Given the description of an element on the screen output the (x, y) to click on. 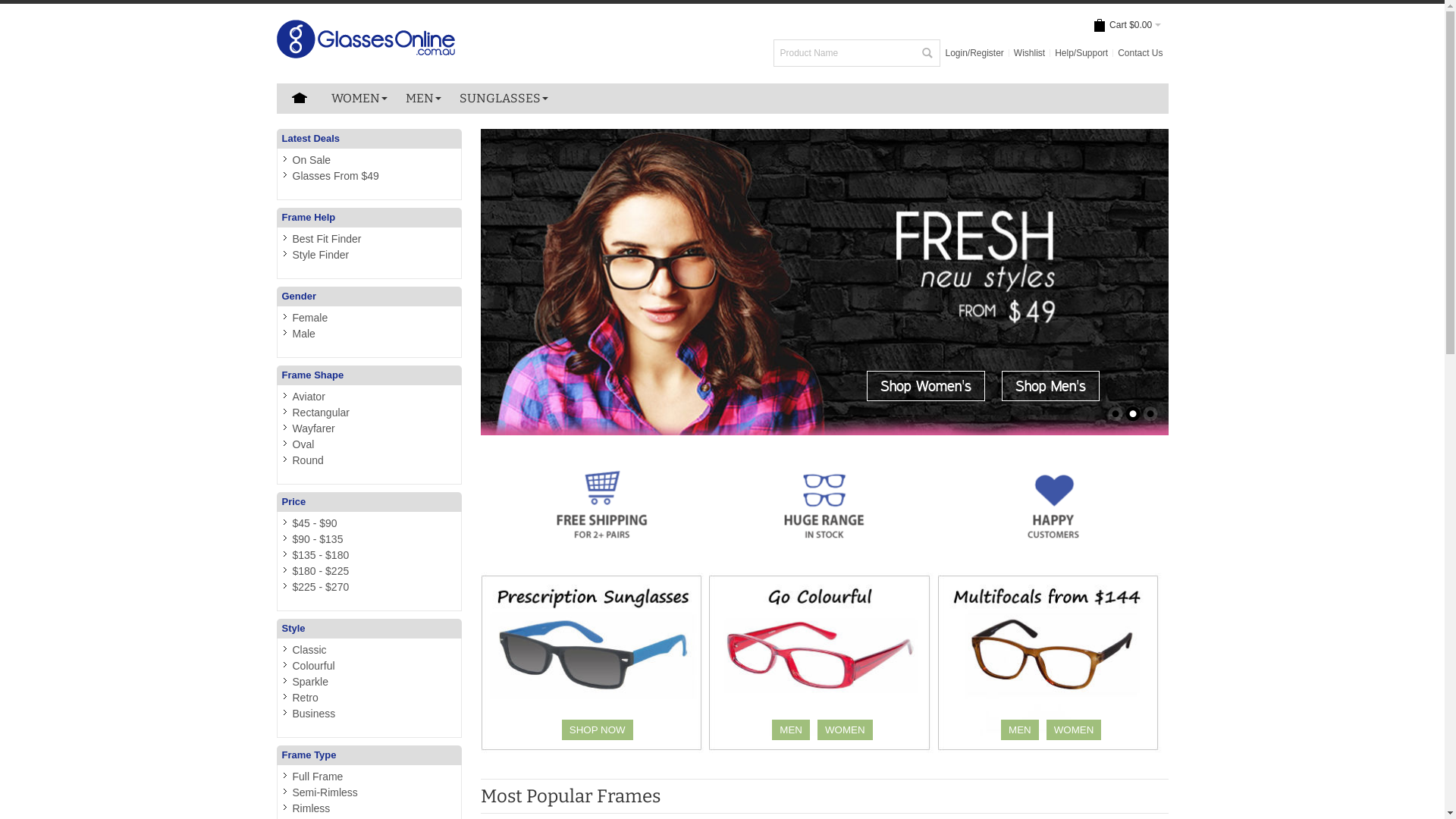
Glasses From $49 Element type: text (335, 175)
MEN  Element type: text (422, 98)
Aviator Element type: text (308, 396)
2 Element type: text (1132, 413)
1 Element type: text (1115, 413)
SUNGLASSES  Element type: text (503, 98)
Female Element type: text (310, 317)
On Sale Element type: text (311, 159)
Login/Register Element type: text (973, 52)
$180 - $225 Element type: text (320, 570)
Contact Us Element type: text (1139, 52)
WOMEN Element type: text (1073, 729)
SHOP NOW Element type: text (597, 729)
WOMEN  Element type: text (358, 98)
Search Element type: hover (926, 52)
Male Element type: text (303, 333)
Rectangular Element type: text (321, 412)
Sparkle Element type: text (310, 681)
multifocal prescription glasses Element type: hover (1051, 662)
Business Element type: text (313, 713)
Full Frame Element type: text (317, 776)
Colourful Element type: text (313, 665)
Classic Element type: text (309, 649)
Help/Support Element type: text (1081, 52)
Best Fit Finder Element type: text (326, 238)
$90 - $135 Element type: text (317, 539)
Round Element type: text (307, 460)
Wishlist Element type: text (1029, 52)
Semi-Rimless Element type: text (324, 792)
prescription sunglasses Element type: hover (593, 662)
Shop Men's Element type: text (1050, 385)
colourful eyeglasses Element type: hover (822, 662)
Rimless Element type: text (311, 808)
Style Finder Element type: text (320, 254)
Wayfarer Element type: text (313, 428)
$45 - $90 Element type: text (314, 523)
$135 - $180 Element type: text (320, 555)
WOMEN Element type: text (844, 729)
MEN Element type: text (790, 729)
3 Element type: text (1149, 413)
Oval Element type: text (303, 444)
Shop Women's Element type: text (925, 385)
Retro Element type: text (305, 697)
MEN Element type: text (1019, 729)
Prescription glasses Element type: hover (824, 504)
$225 - $270 Element type: text (320, 586)
